Given the description of an element on the screen output the (x, y) to click on. 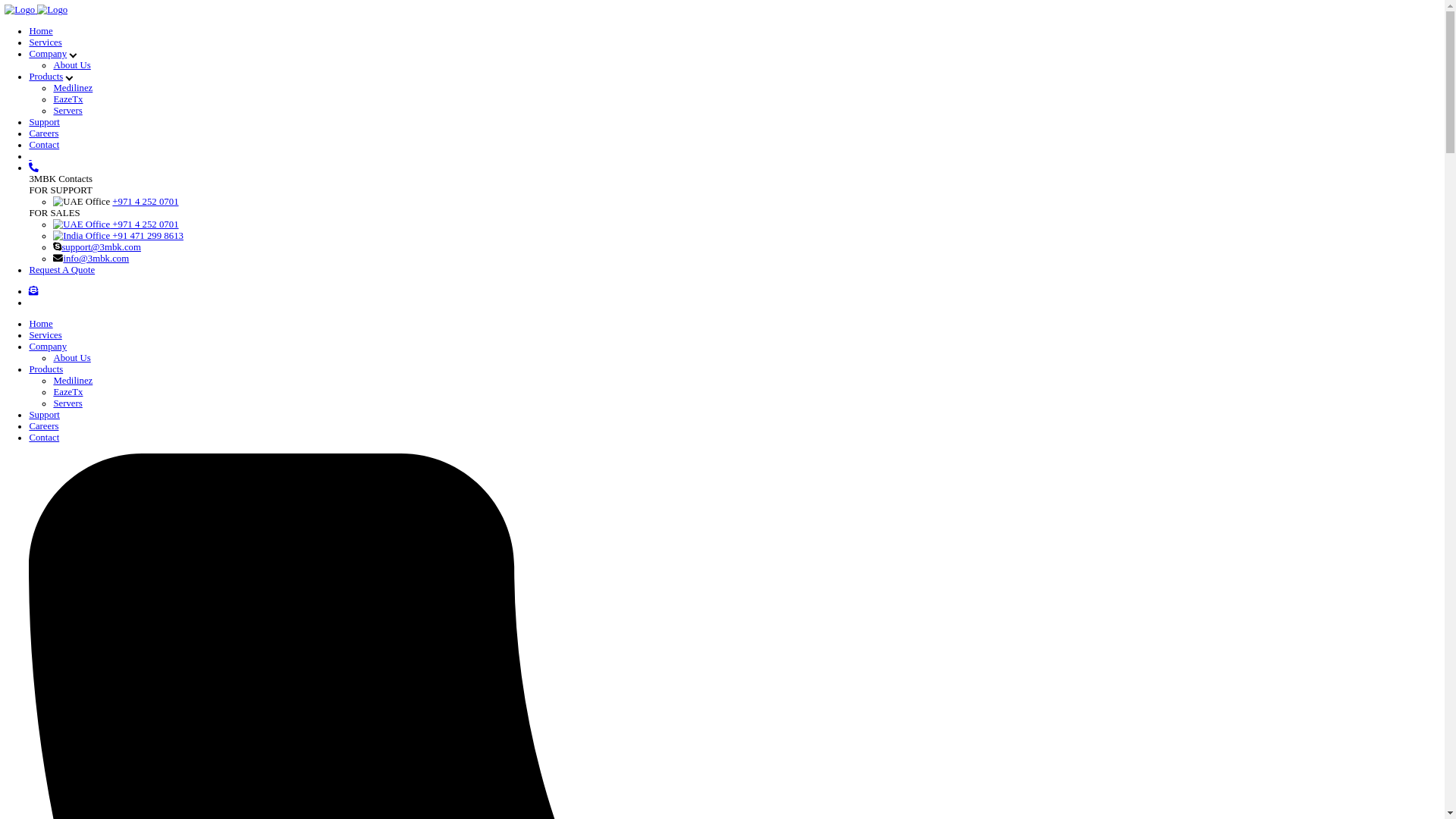
support@3mbk.com Element type: text (126, 309)
+971 4 252 0701 Element type: text (181, 252)
Servers Element type: text (84, 504)
Services Element type: text (56, 52)
Careers Element type: text (54, 166)
+971 4 252 0701 Element type: text (144, 280)
Request A Quote Element type: text (77, 337)
Careers Element type: text (54, 532)
Contact Element type: text (55, 546)
+91 471 299 8613 Element type: text (147, 294)
  Element type: text (37, 195)
About Us Element type: text (89, 81)
Company Element type: text (65, 67)
Products Element type: text (57, 461)
Company Element type: text (59, 432)
Support Element type: text (55, 518)
EazeTx Element type: text (84, 489)
Medilinez Element type: text (91, 475)
Medilinez Element type: text (91, 109)
Products Element type: text (62, 96)
info@3mbk.com Element type: text (119, 323)
EazeTx Element type: text (84, 124)
Home Element type: text (50, 39)
Support Element type: text (55, 153)
Home Element type: text (50, 404)
Services Element type: text (56, 418)
About Us Element type: text (89, 447)
Contact Element type: text (55, 181)
Servers Element type: text (84, 138)
